Given the description of an element on the screen output the (x, y) to click on. 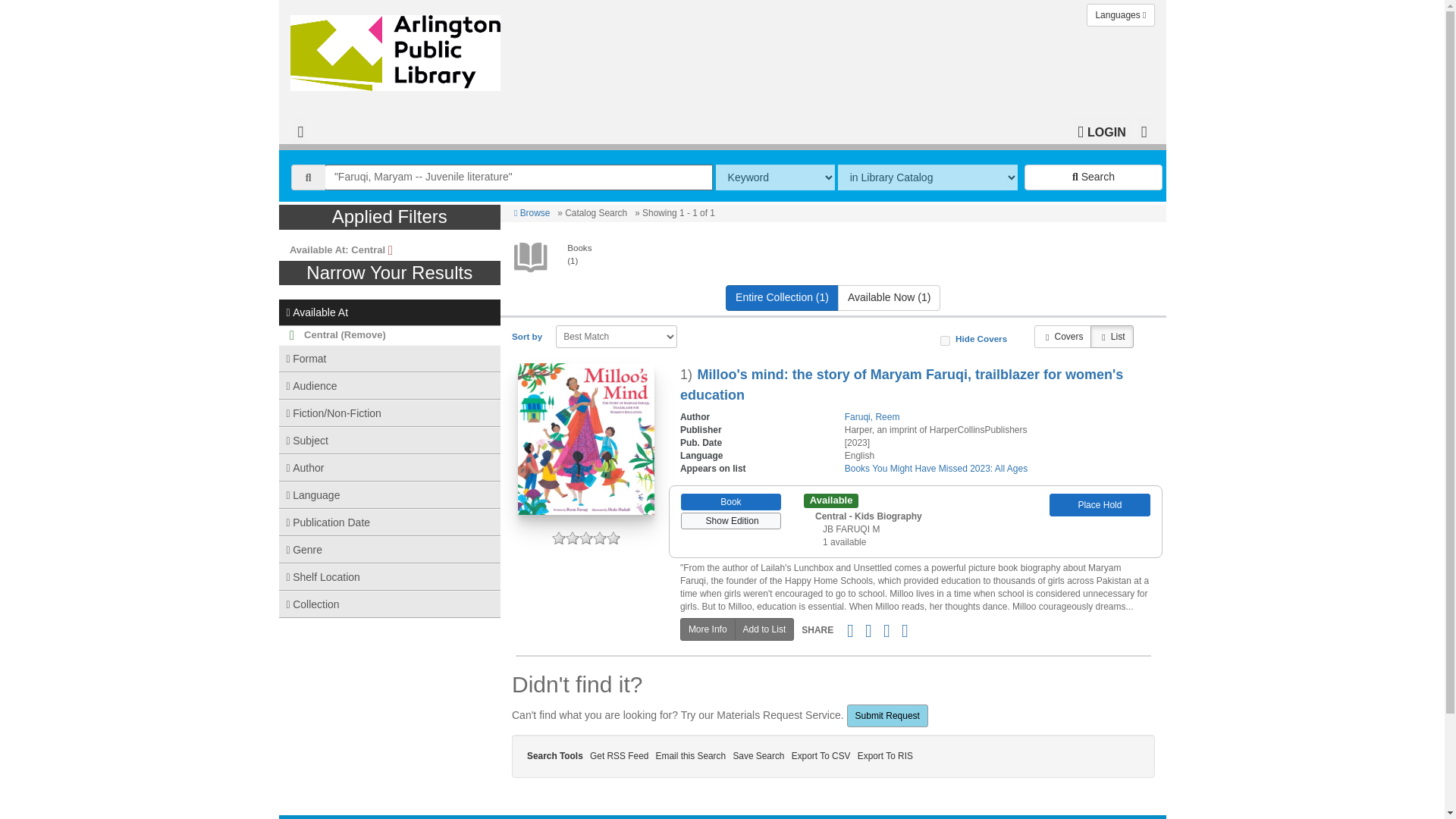
 Search (1093, 177)
Languages  (1120, 15)
LOGIN (1101, 130)
The method of searching. (775, 177)
Login (1101, 130)
"Faruqi, Maryam -- Juvenile literature" (518, 177)
Library Home Page (397, 48)
on (945, 340)
Browse (531, 213)
